Given the description of an element on the screen output the (x, y) to click on. 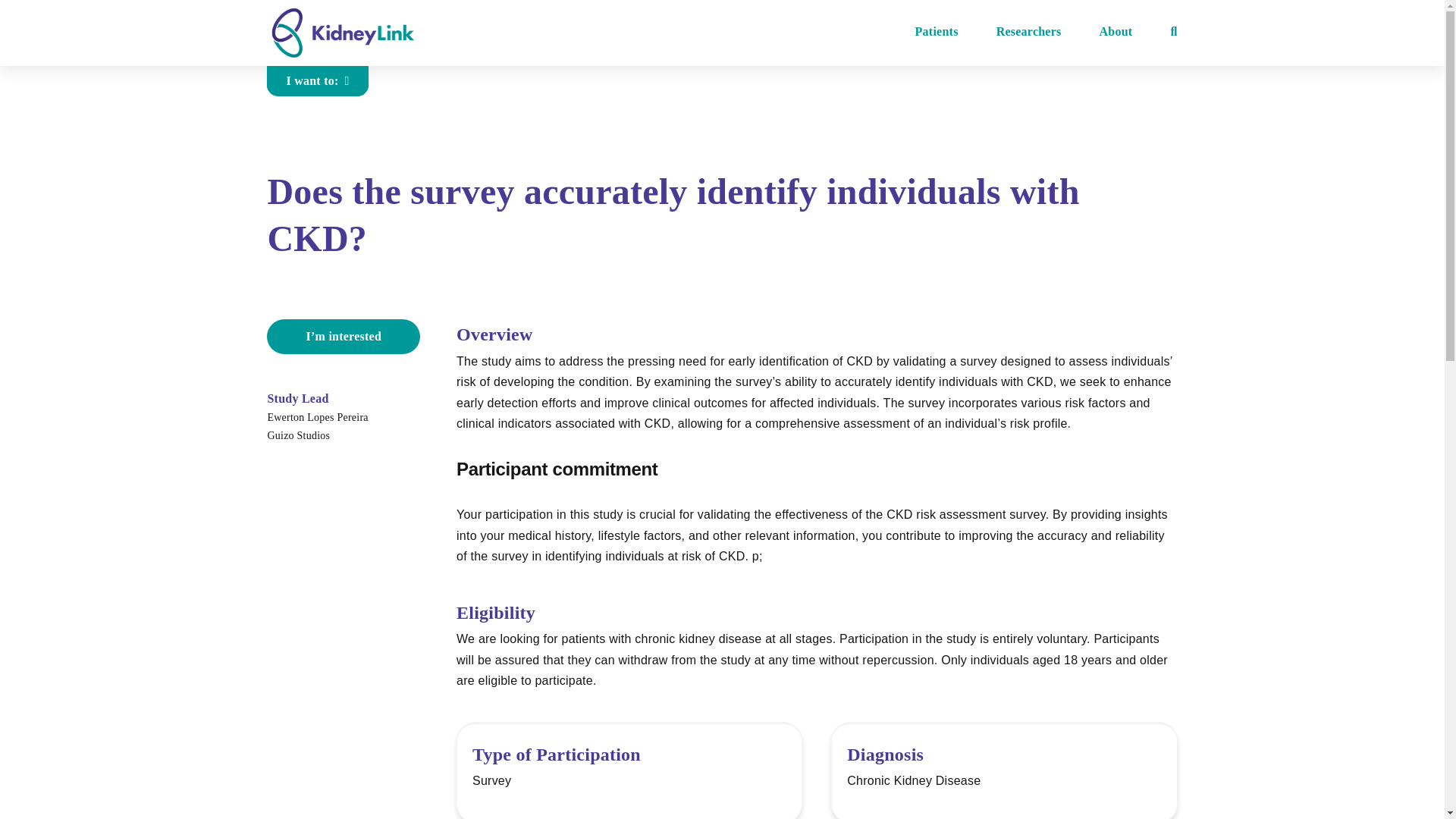
Patients (936, 31)
I want to: (317, 81)
Researchers (1028, 31)
